Given the description of an element on the screen output the (x, y) to click on. 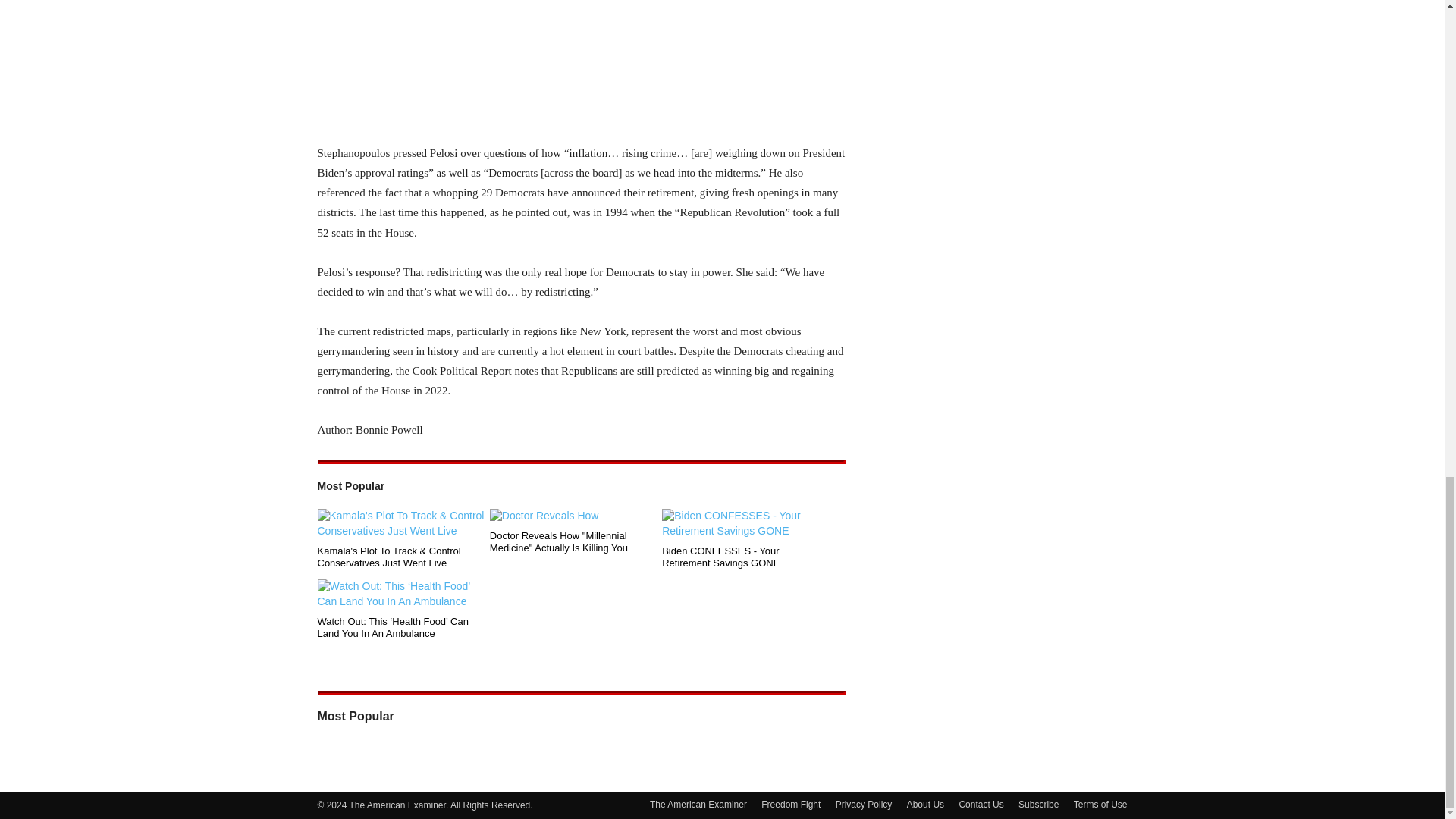
Doctor Reveals How  (572, 516)
Biden CONFESSES - Your Retirement Savings GONE (745, 557)
Biden CONFESSES - Your Retirement Savings GONE (745, 523)
